Given the description of an element on the screen output the (x, y) to click on. 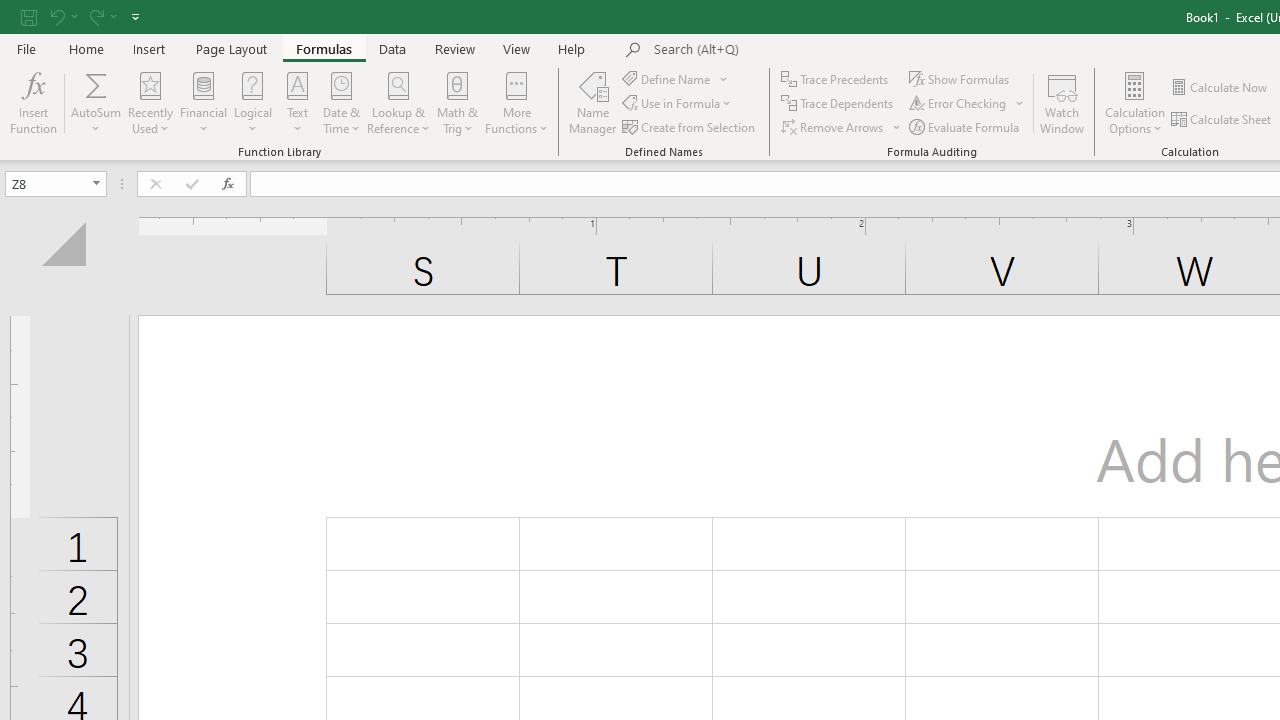
Define Name... (667, 78)
Watch Window (1062, 102)
Error Checking... (967, 103)
More Functions (516, 102)
Financial (203, 102)
Logical (253, 102)
Calculation Options (1135, 102)
Use in Formula (678, 103)
